Given the description of an element on the screen output the (x, y) to click on. 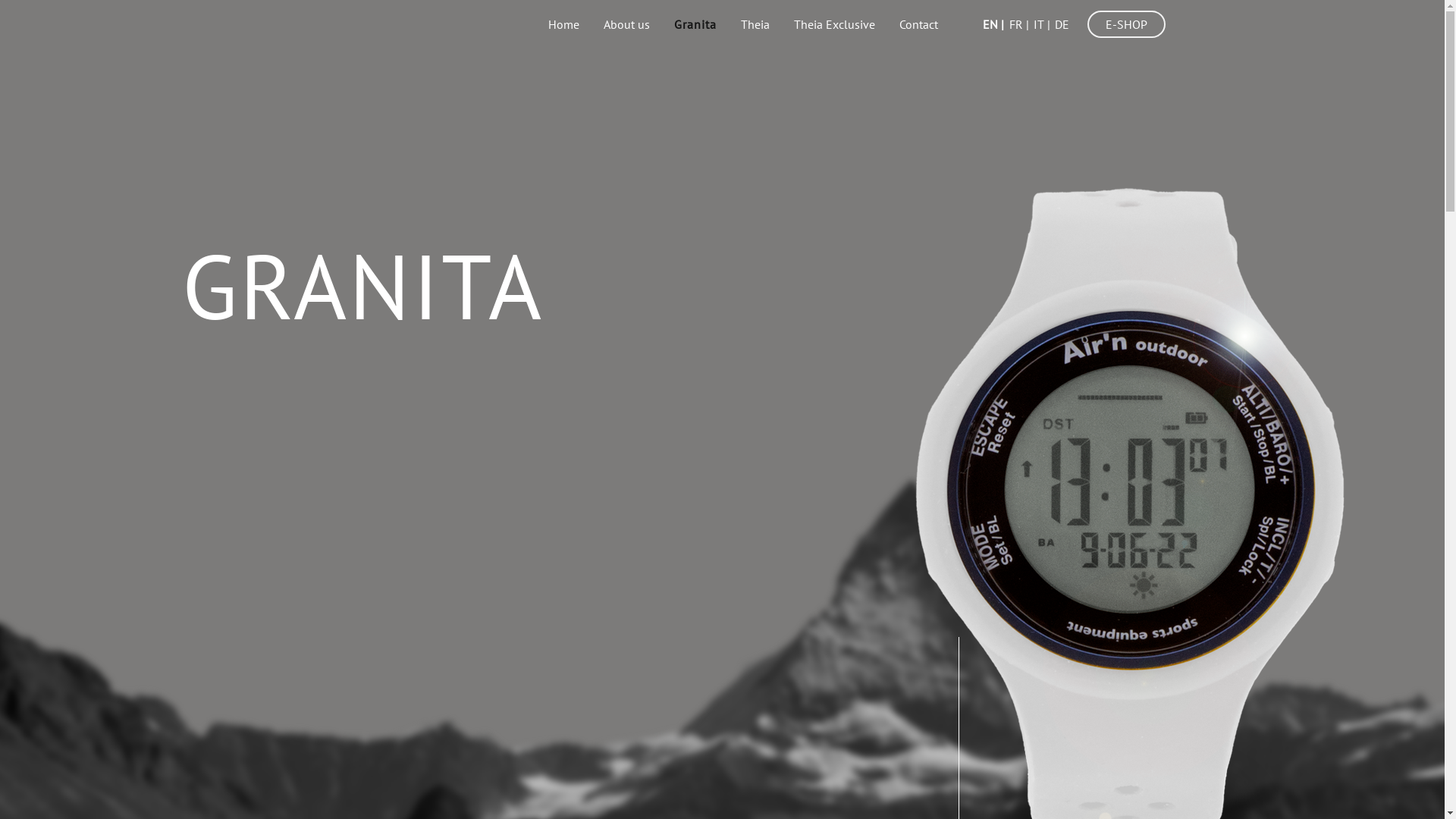
E-SHOP Element type: text (1126, 23)
Theia Exclusive Element type: text (834, 24)
FR Element type: text (1018, 24)
DE Element type: text (1063, 24)
Home Element type: text (563, 24)
Contact Element type: text (918, 24)
EN Element type: text (993, 24)
Theia Element type: text (754, 24)
IT Element type: text (1041, 24)
About us Element type: text (626, 24)
Granita Element type: text (695, 24)
